Given the description of an element on the screen output the (x, y) to click on. 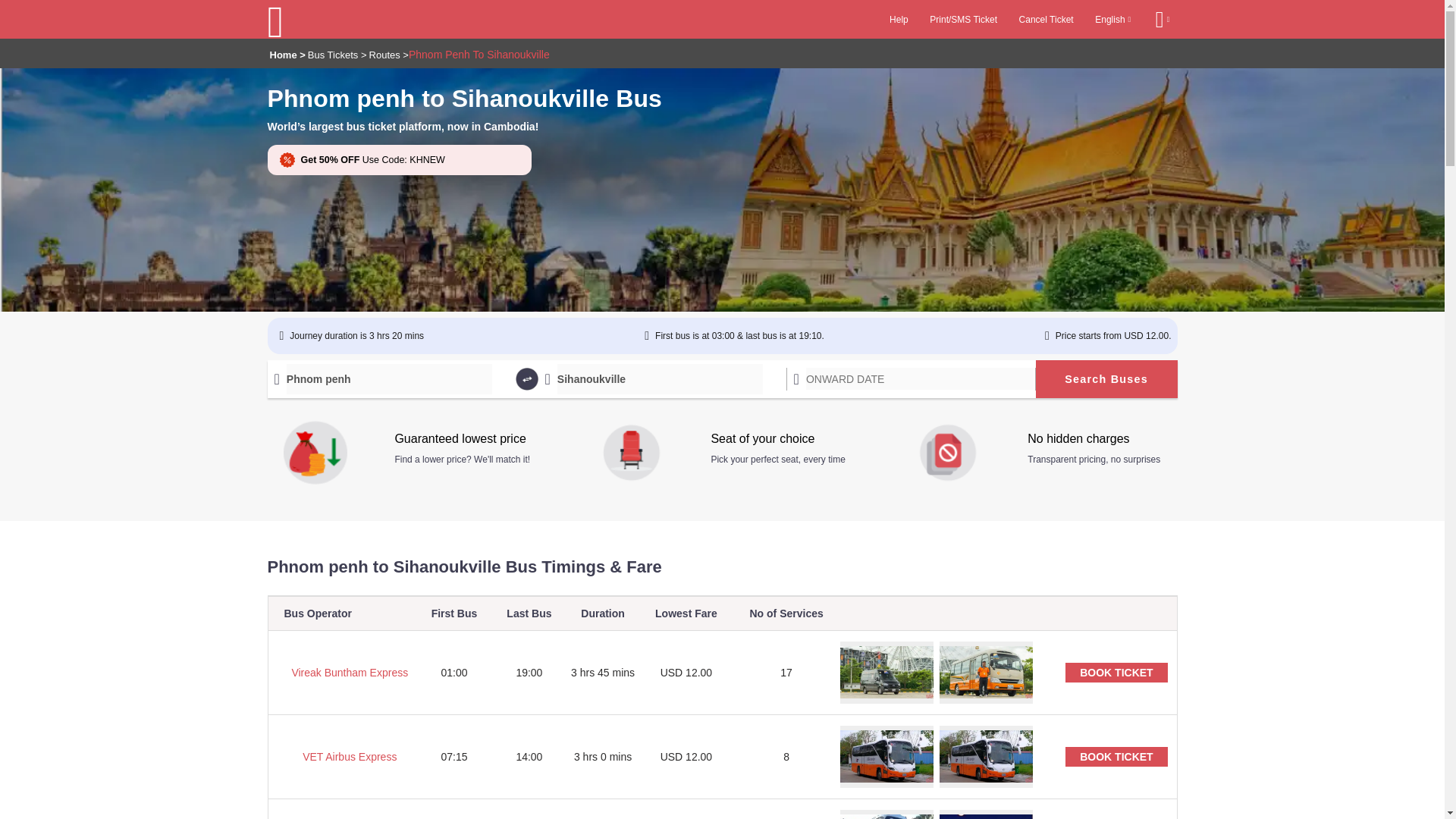
Routes (387, 54)
Cancel Ticket (1046, 18)
Home (285, 54)
Phnom penh (389, 378)
Vireak Buntham Express (341, 672)
Help (898, 18)
Search Buses (1106, 379)
VET Airbus Express (341, 756)
Bus Tickets (335, 54)
Sihanoukville (659, 378)
